Given the description of an element on the screen output the (x, y) to click on. 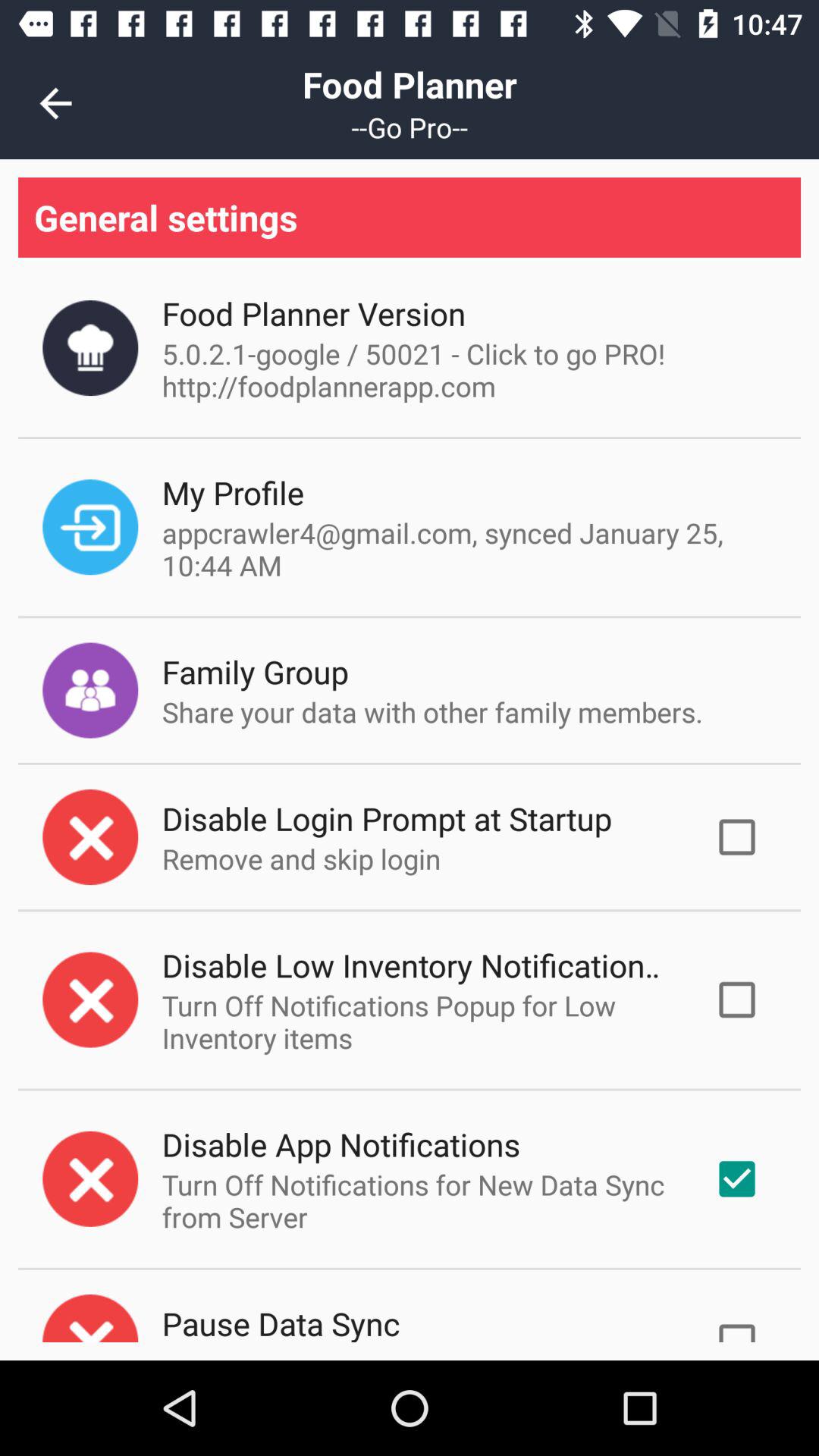
open remove and skip (301, 858)
